Given the description of an element on the screen output the (x, y) to click on. 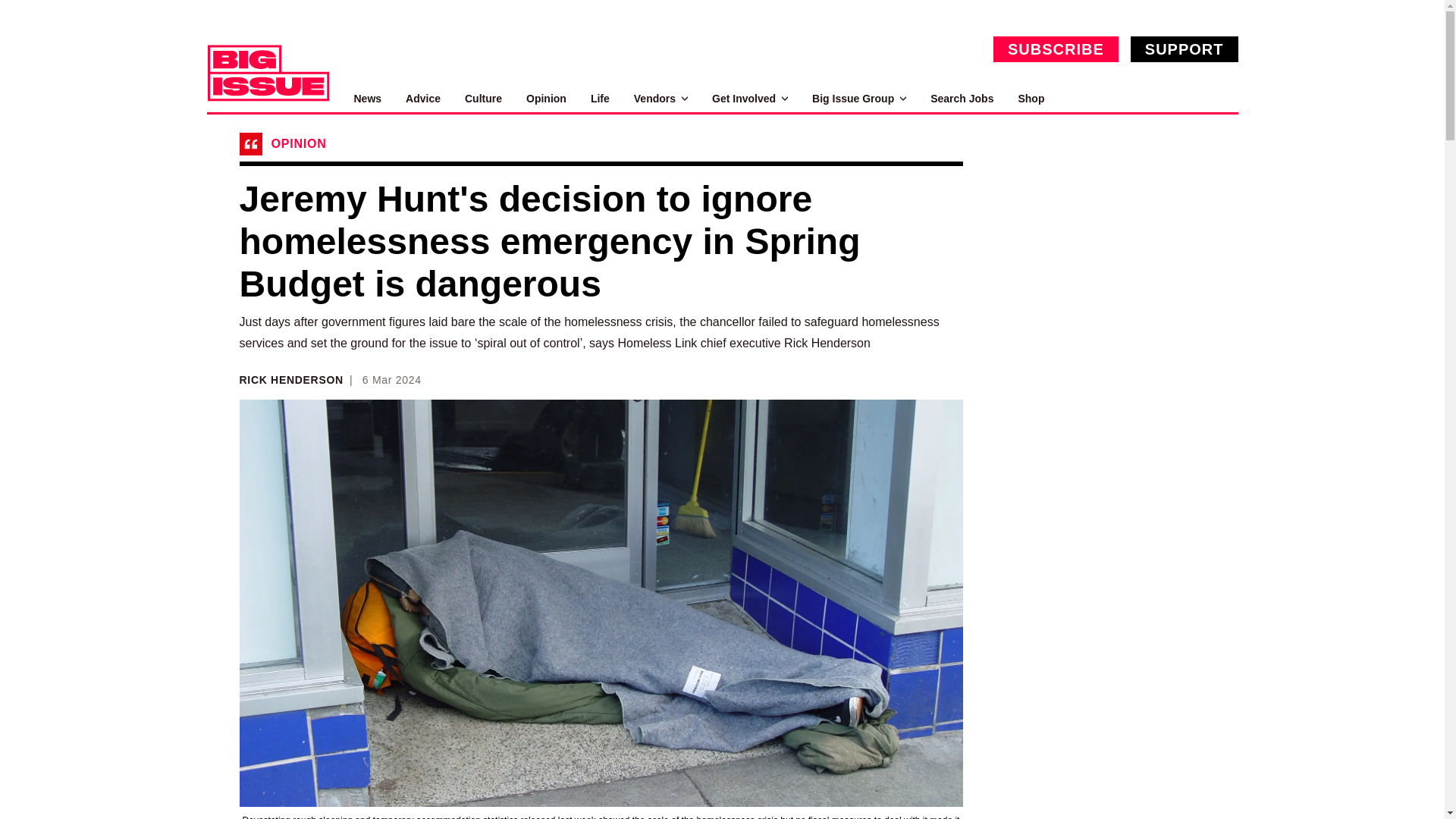
Opinion (545, 98)
Big Issue Group (858, 98)
SUPPORT (1185, 49)
SUBSCRIBE (1055, 49)
Advice (423, 98)
Get Involved (749, 98)
Subscribe (1055, 49)
Support (1185, 49)
Search (1220, 98)
Vendors (660, 98)
Culture (483, 98)
Search Jobs (961, 98)
